Given the description of an element on the screen output the (x, y) to click on. 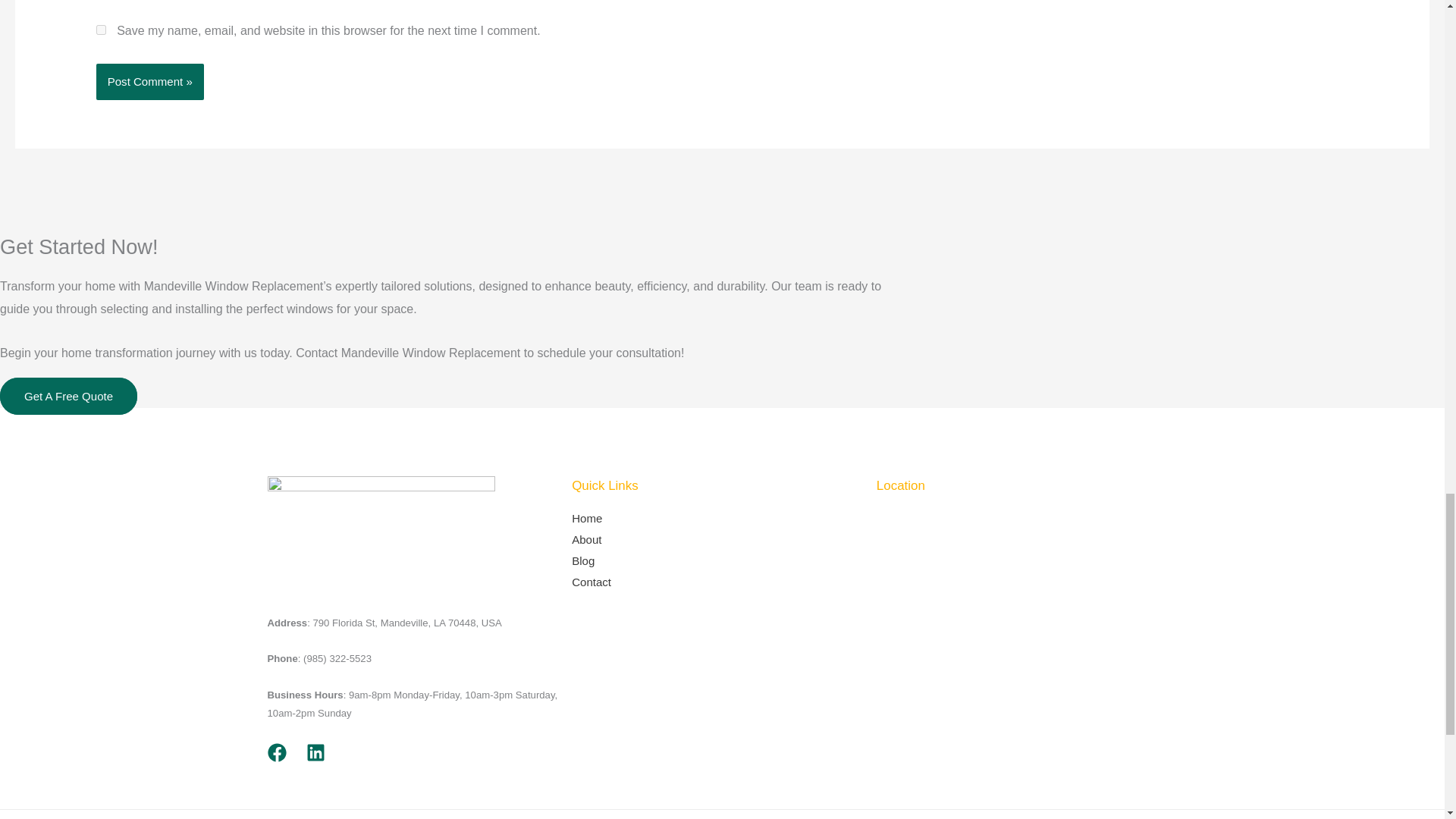
yes (101, 30)
